Given the description of an element on the screen output the (x, y) to click on. 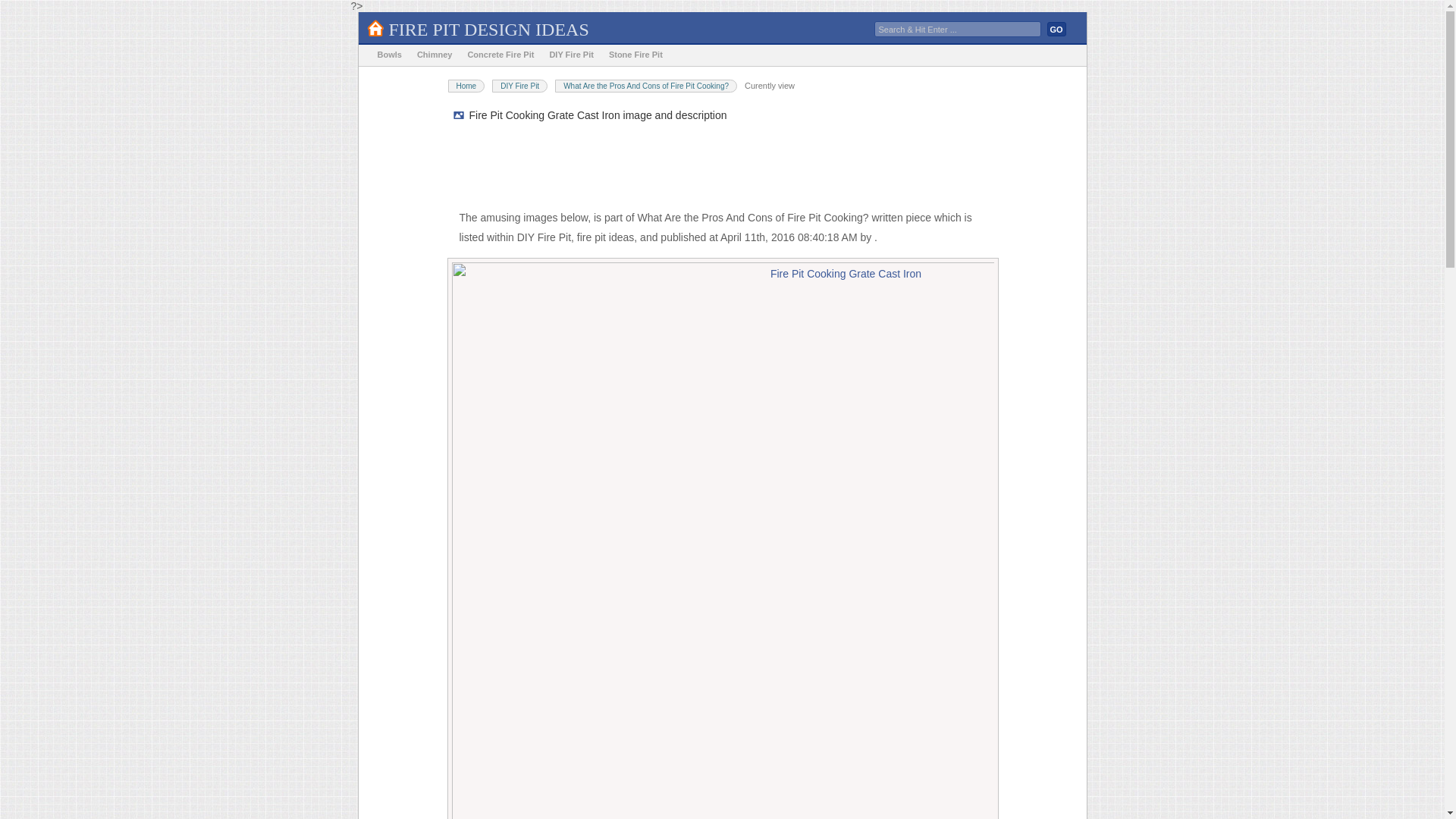
Chimney (434, 54)
DIY Fire Pit (570, 54)
GO (1055, 29)
Concrete Fire Pit (500, 54)
DIY Fire Pit (519, 85)
GO (1055, 29)
Bowls (389, 54)
Stone Fire Pit (635, 54)
Fire Pit Design Ideas (488, 29)
Home (465, 85)
